Given the description of an element on the screen output the (x, y) to click on. 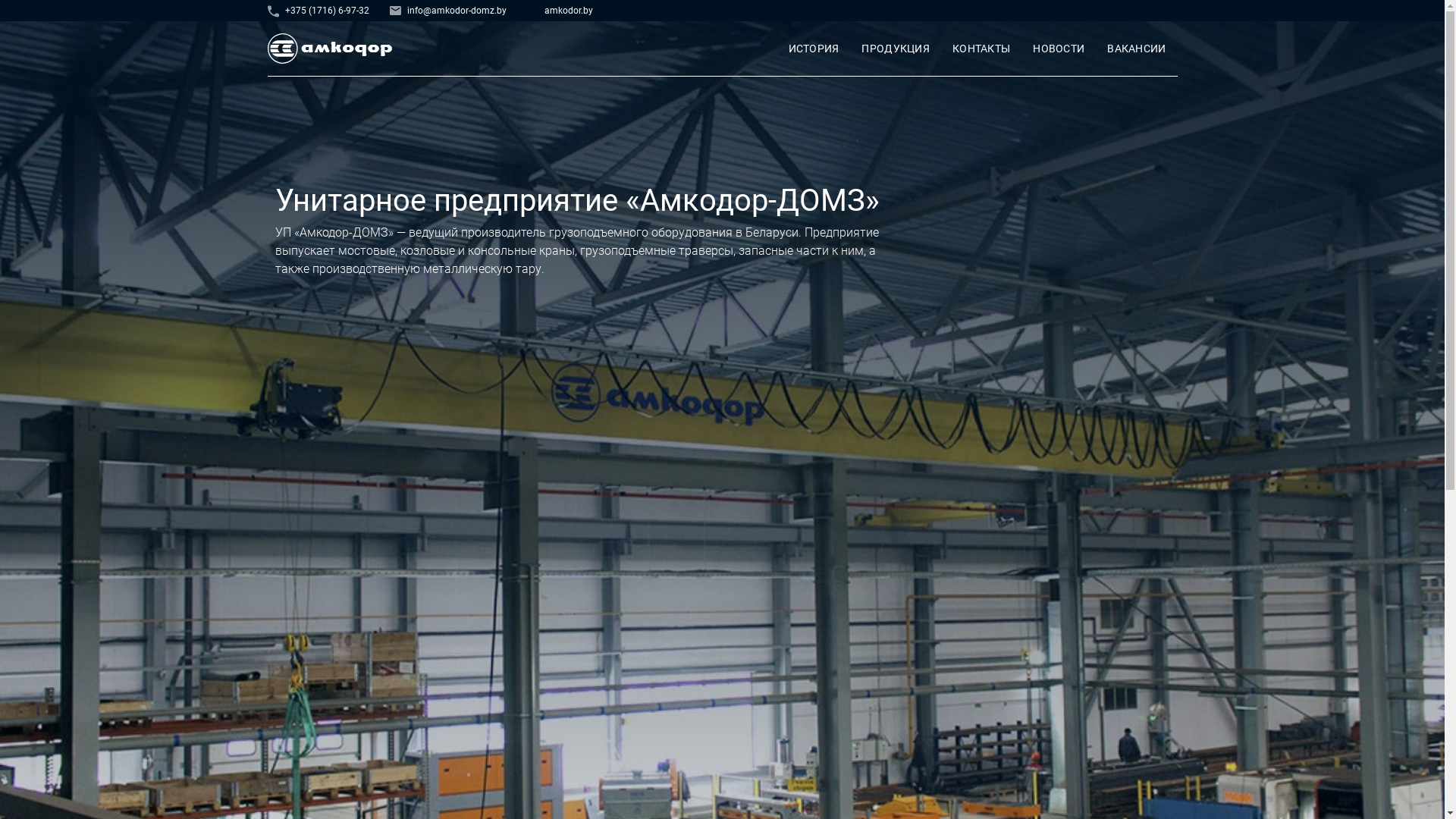
amkodor.by Element type: text (559, 10)
info@amkodor-domz.by Element type: text (454, 10)
+375 (1716) 6-97-32 Element type: text (323, 10)
